Given the description of an element on the screen output the (x, y) to click on. 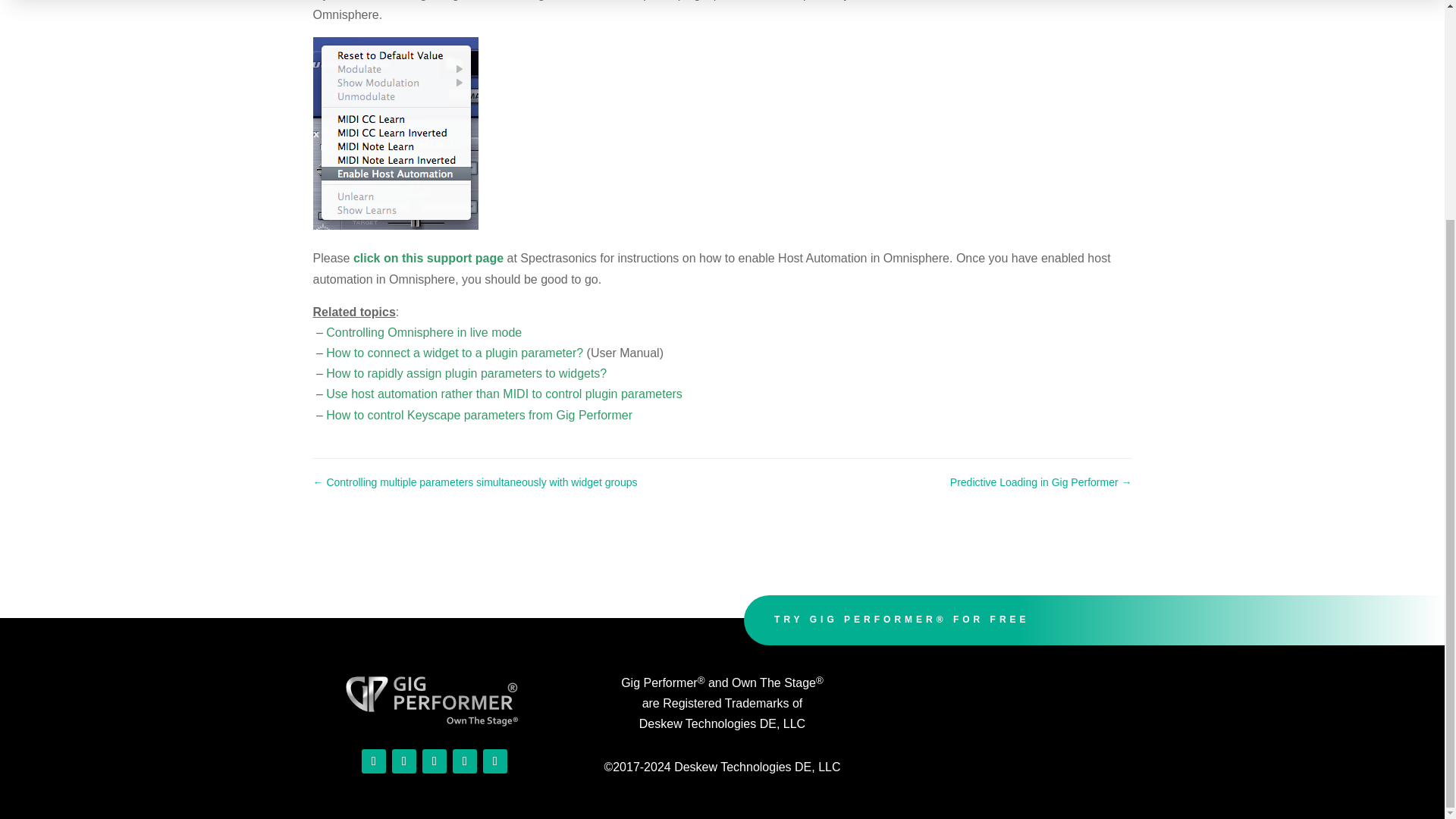
Follow on LinkedIn (464, 761)
Follow on Youtube (373, 761)
Follow on X (494, 761)
gigperformerlogo-wide-light-2 (434, 699)
Follow on Instagram (403, 761)
Follow on Facebook (434, 761)
